Given the description of an element on the screen output the (x, y) to click on. 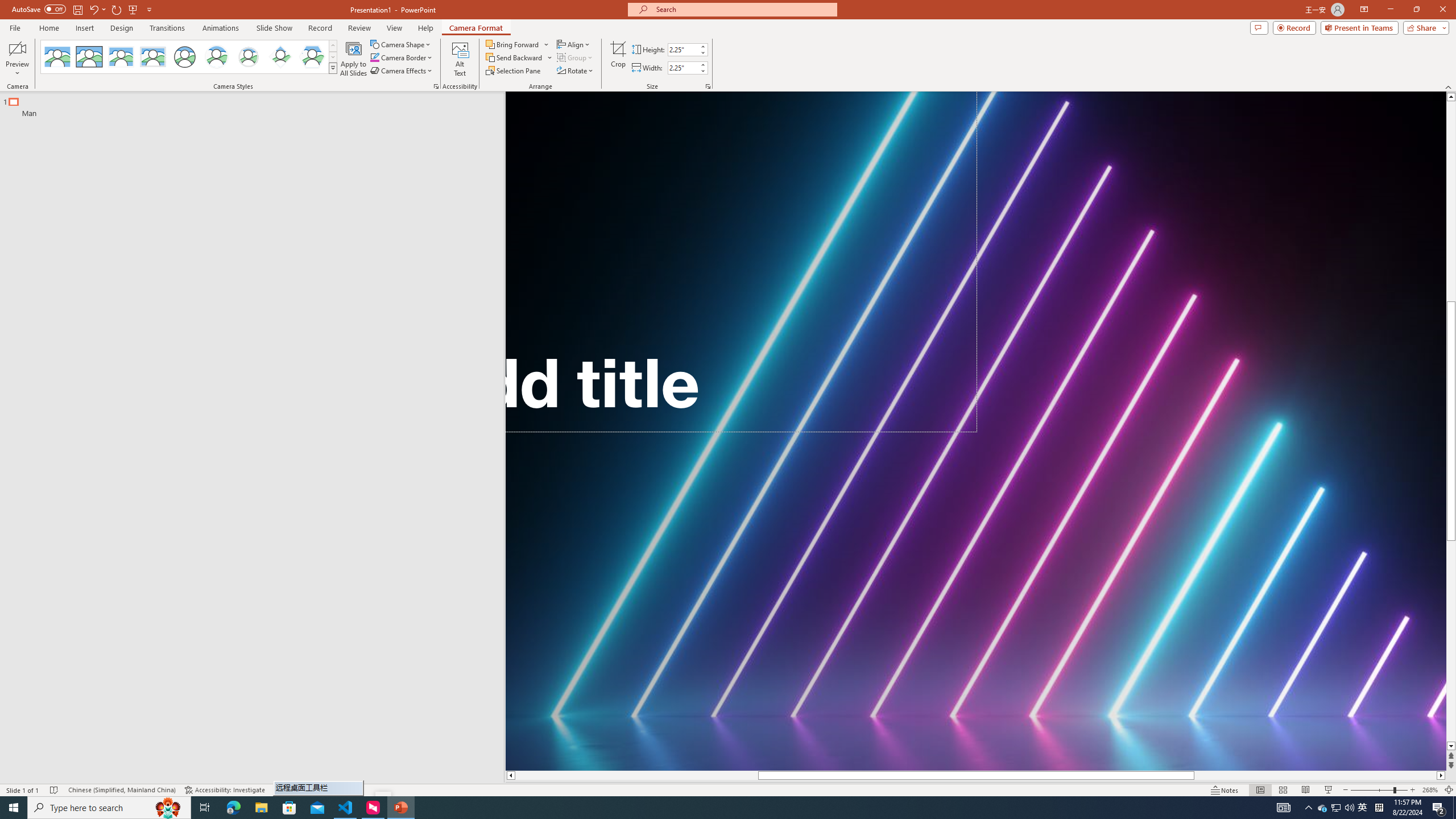
Bring Forward (513, 44)
Camera Shape (400, 44)
Cameo Height (682, 49)
Soft Edge Rectangle (152, 56)
Selection Pane... (513, 69)
Send Backward (518, 56)
